Given the description of an element on the screen output the (x, y) to click on. 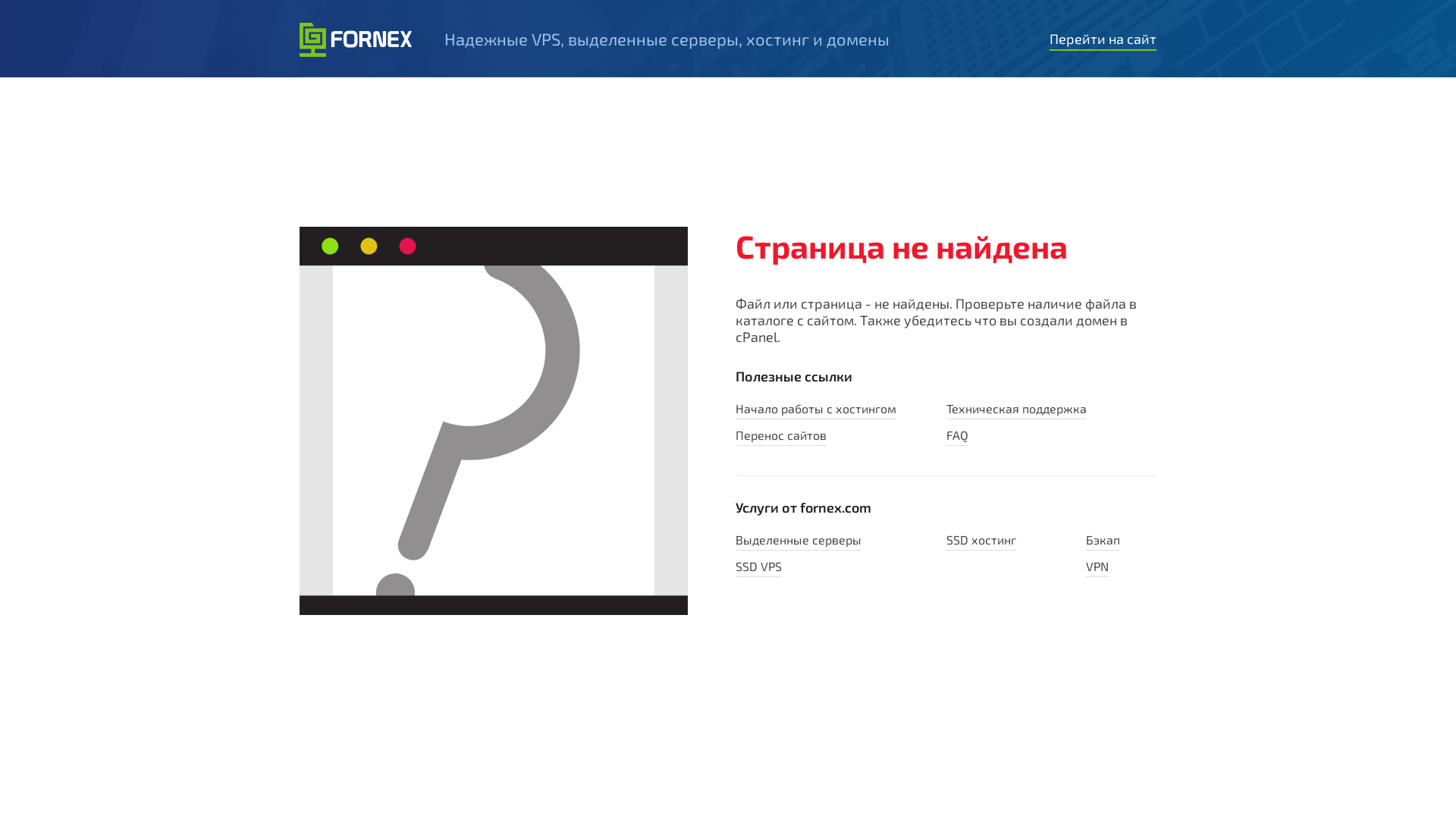
SSD VPS Element type: text (758, 567)
FAQ Element type: text (957, 436)
VPN Element type: text (1096, 567)
